Given the description of an element on the screen output the (x, y) to click on. 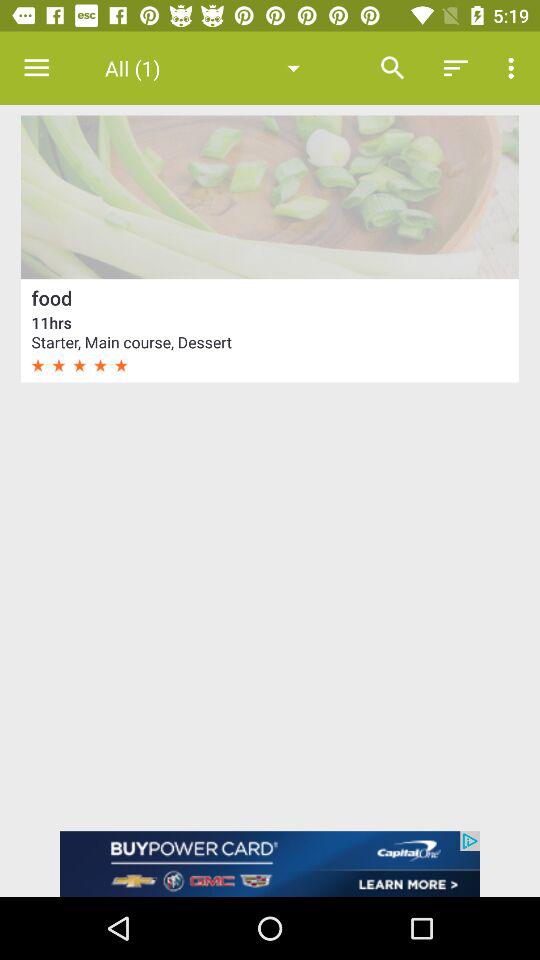
view advertisement (270, 864)
